Given the description of an element on the screen output the (x, y) to click on. 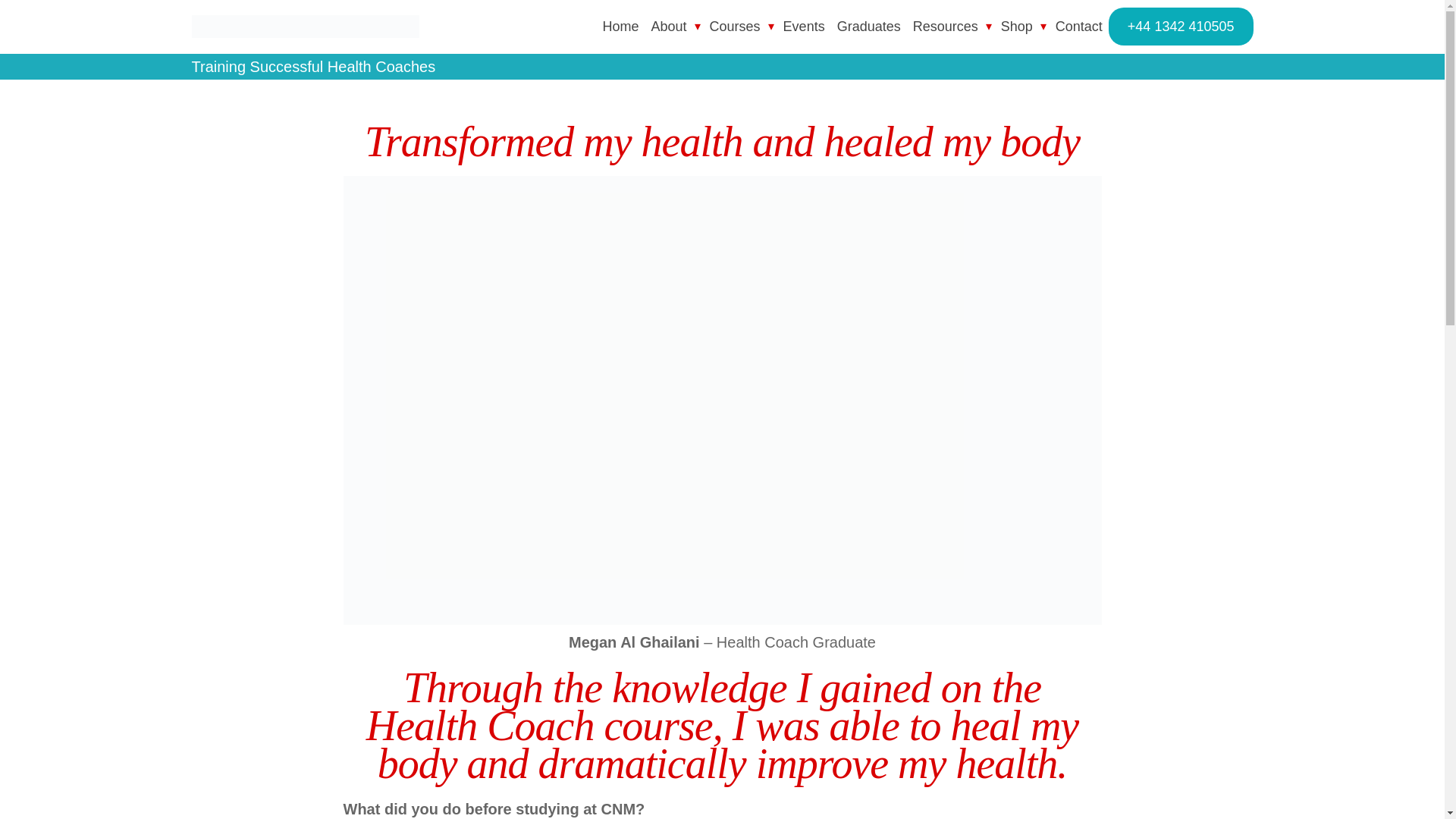
Transformed my health and healed my body (721, 619)
Courses (735, 26)
Transformed my health and healed my body (722, 141)
Resources (945, 26)
Shop (1016, 26)
Events (804, 26)
Graduates (869, 26)
Home (620, 26)
Contact (1078, 26)
About (669, 26)
